Given the description of an element on the screen output the (x, y) to click on. 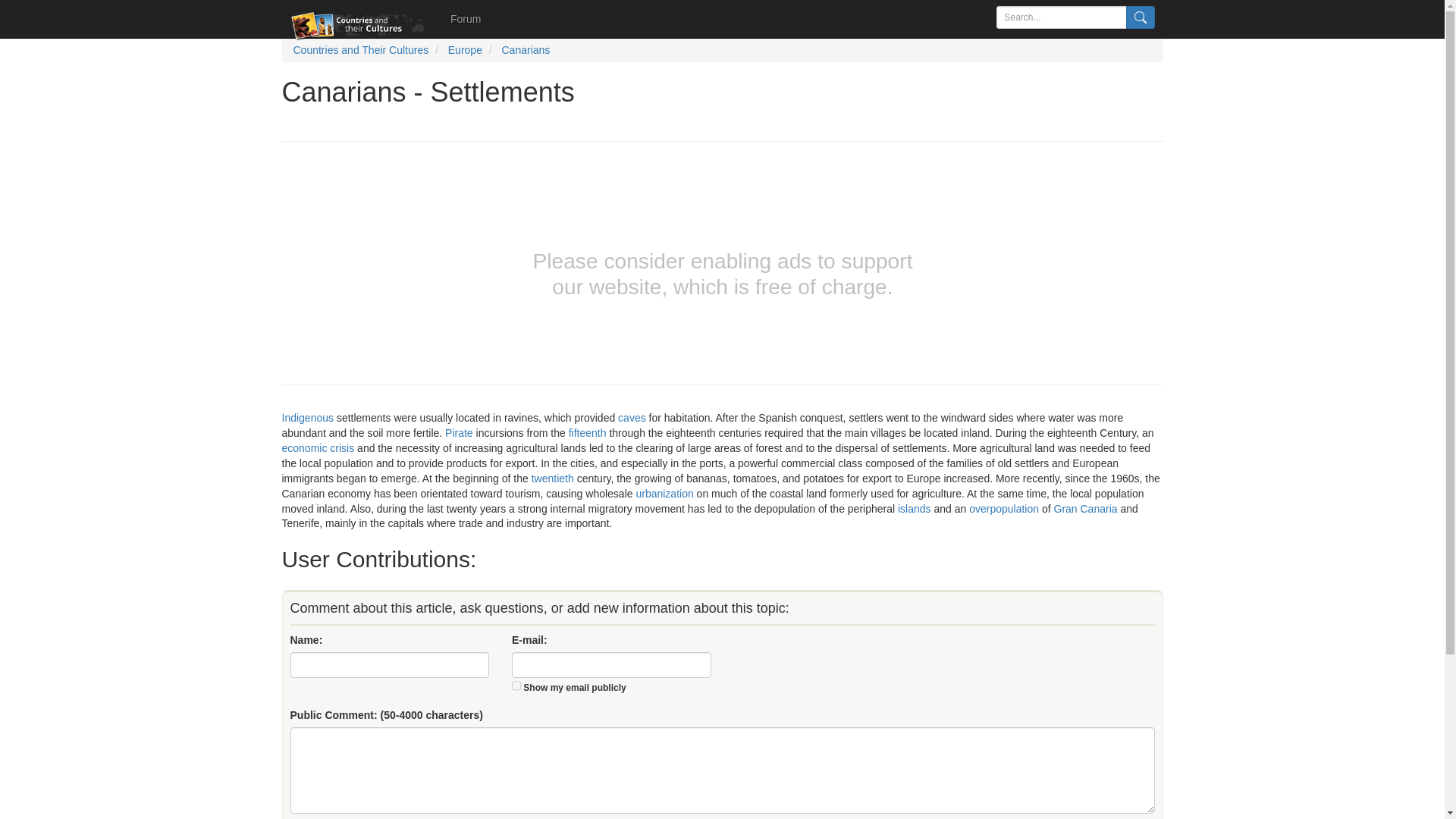
View 'islands' definition from Wikipedia (914, 508)
View 'pirate' definition from Wikipedia (459, 432)
View 'indigenous' definition from Wikipedia (308, 417)
overpopulation (1004, 508)
twentieth (552, 478)
Forum (465, 18)
islands (914, 508)
Europe (464, 50)
View 'urbanization' definition from Wikipedia (663, 493)
View 'economic crisis' definition from Wikipedia (318, 448)
fifteenth (588, 432)
View 'caves' definition from Wikipedia (631, 417)
economic crisis (318, 448)
View 'overpopulation' definition from Wikipedia (1004, 508)
